Given the description of an element on the screen output the (x, y) to click on. 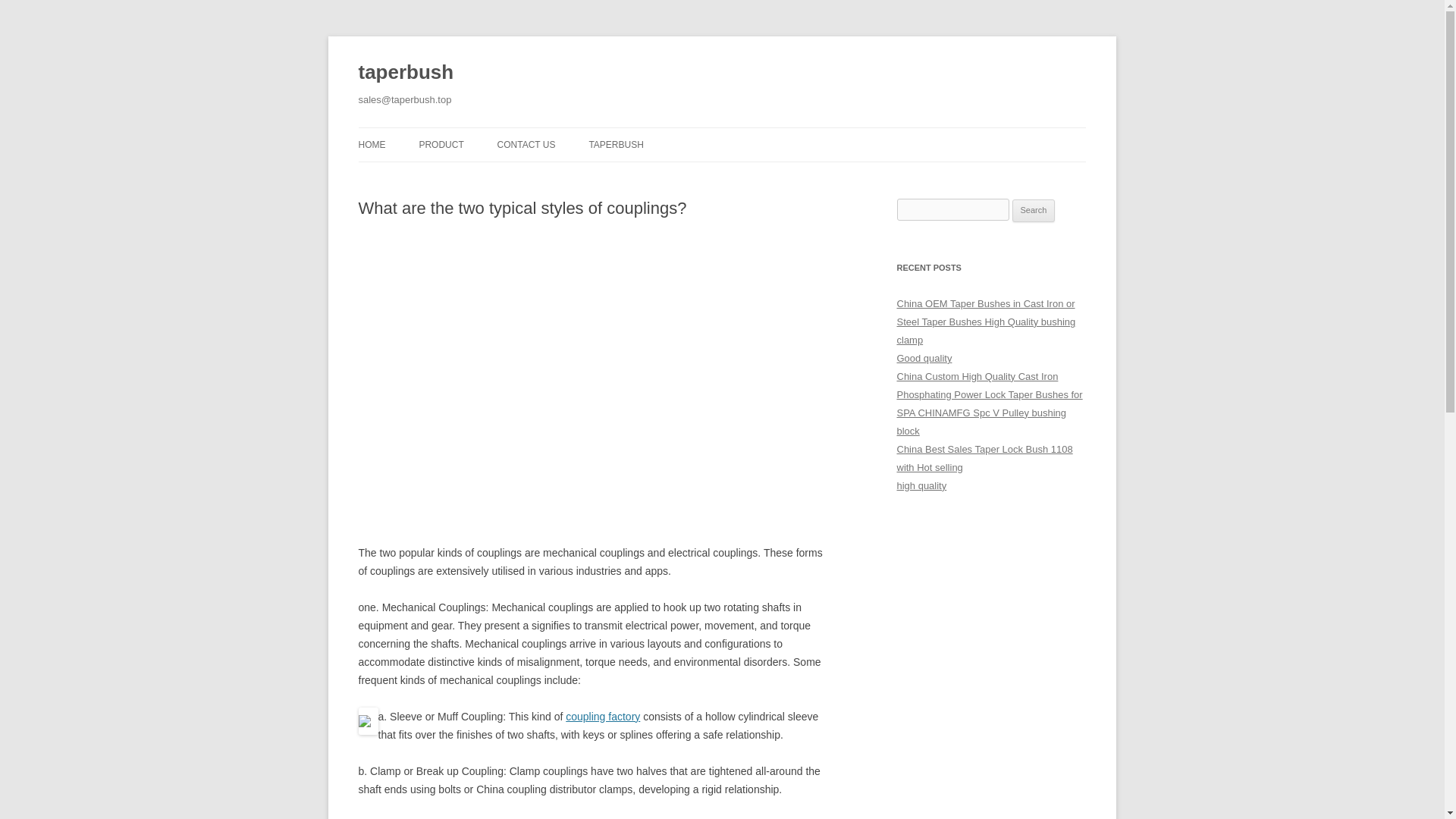
PRODUCT (441, 144)
Search (1033, 210)
Search (1033, 210)
taperbush (405, 72)
TAPERBUSH (615, 144)
high quality (921, 485)
taperbush (405, 72)
coupling factory (603, 716)
Good quality (924, 357)
China Best Sales Taper Lock Bush 1108 with Hot selling (983, 458)
CONTACT US (526, 144)
